Given the description of an element on the screen output the (x, y) to click on. 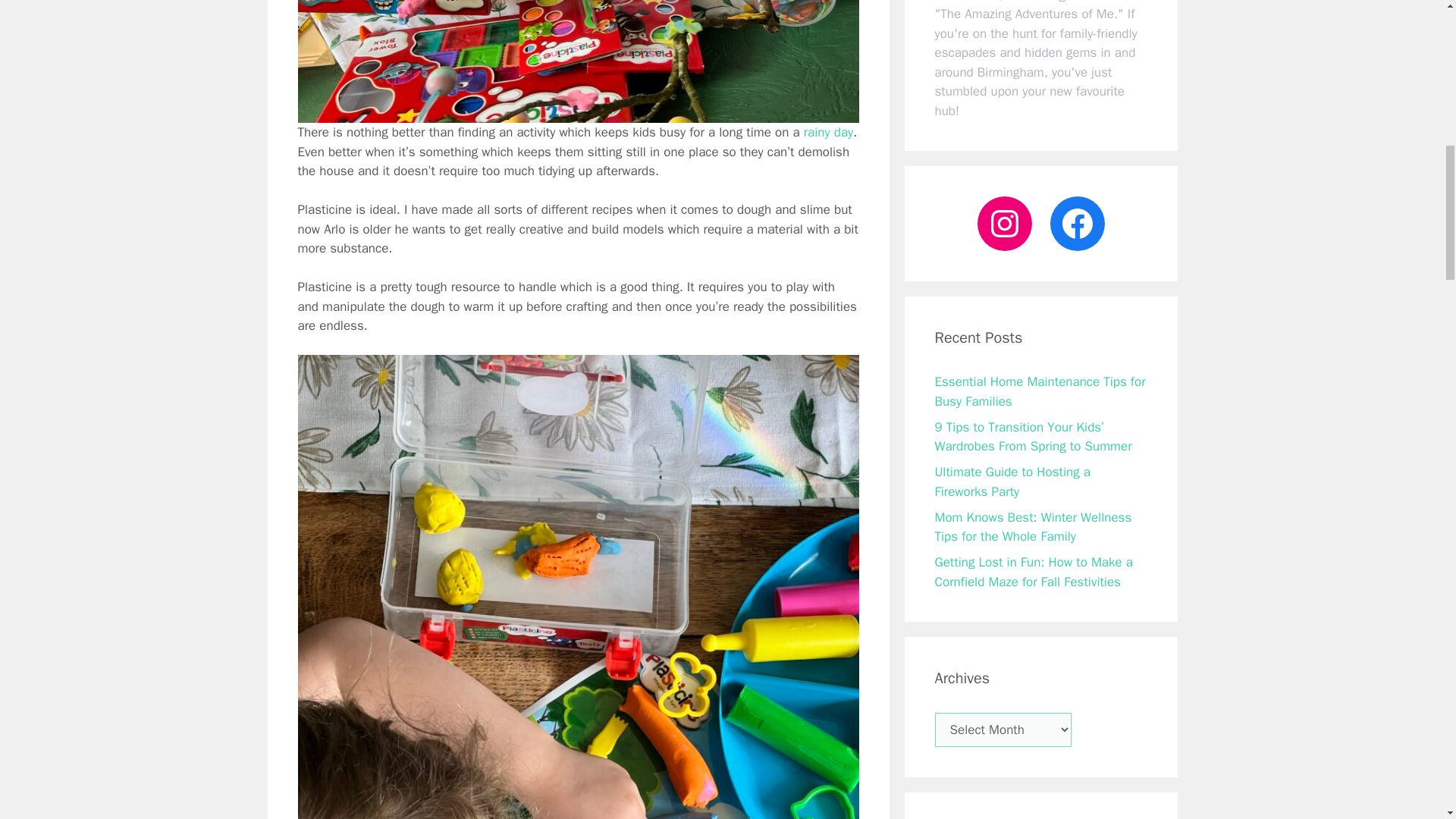
rainy day (828, 132)
